Given the description of an element on the screen output the (x, y) to click on. 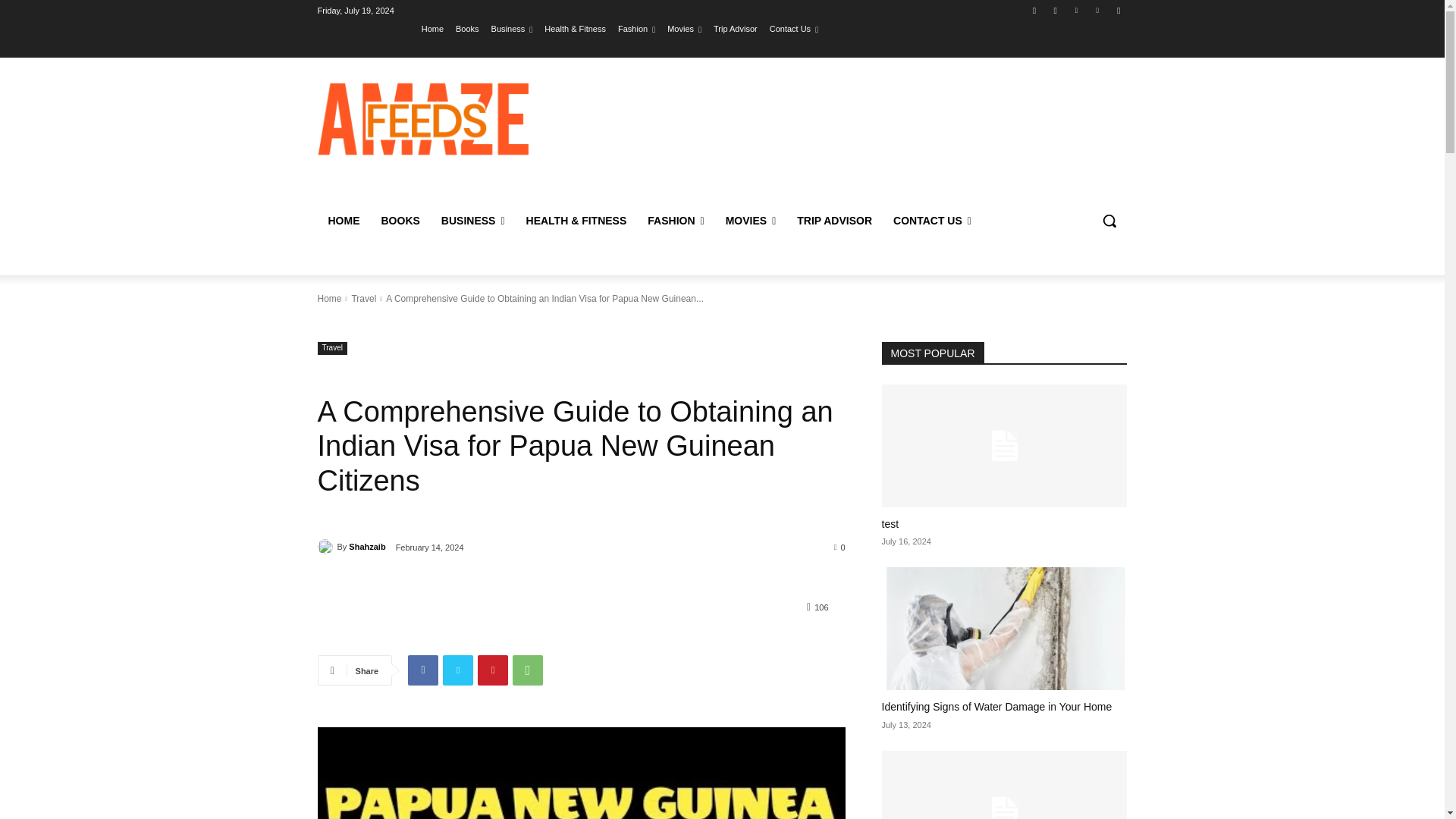
Shahzaib (326, 546)
Facebook (1034, 9)
Trip Advisor (735, 28)
Twitter (457, 670)
Business (512, 28)
WhatsApp (527, 670)
View all posts in Travel (362, 298)
Books (467, 28)
Movies (683, 28)
Facebook (422, 670)
Twitter (1075, 9)
Fashion (636, 28)
Pinterest (492, 670)
Instagram (1055, 9)
Vimeo (1097, 9)
